Given the description of an element on the screen output the (x, y) to click on. 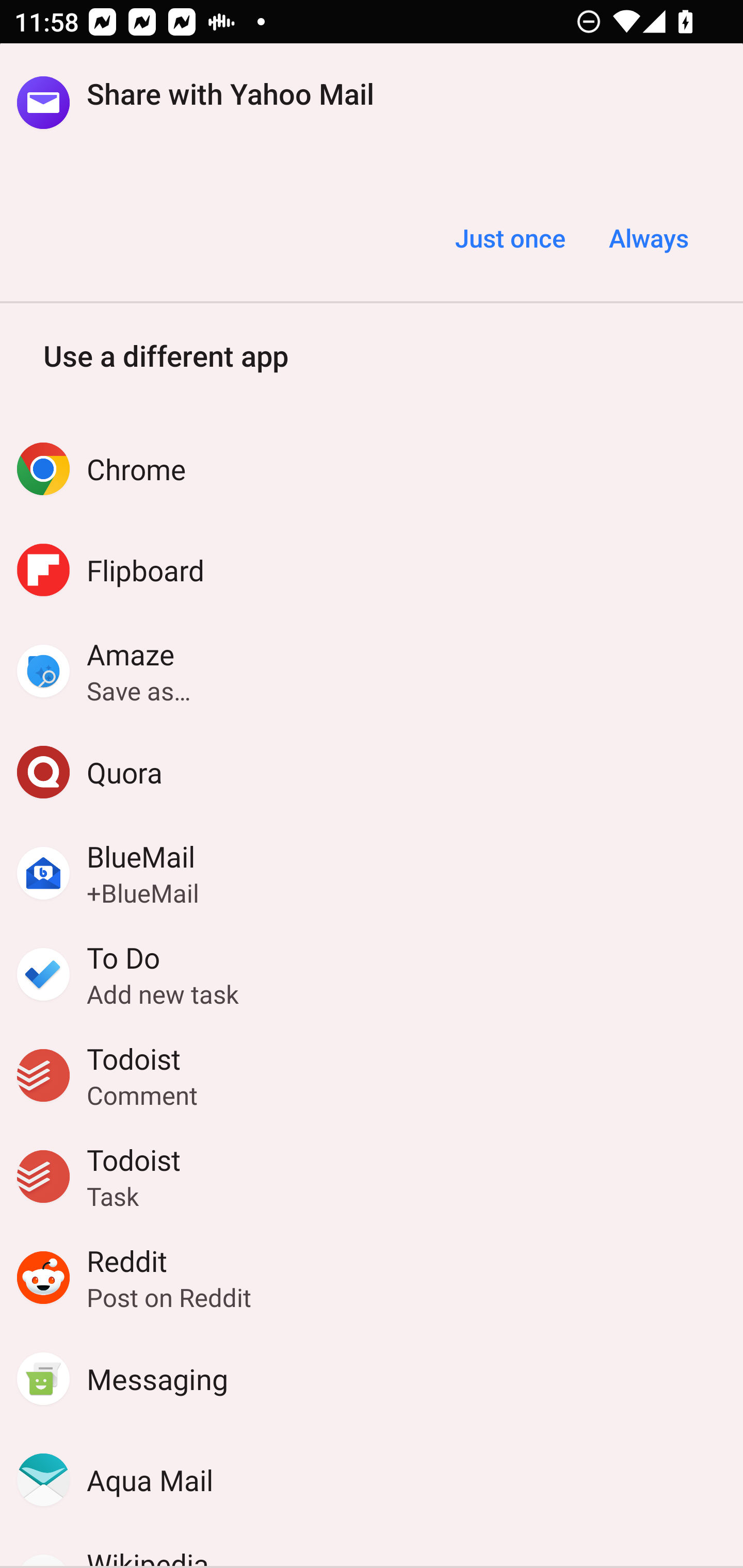
Just once (509, 237)
Always (648, 237)
Chrome (371, 468)
Flipboard (371, 569)
Amaze Save as… (371, 670)
Quora (371, 772)
BlueMail +BlueMail (371, 873)
To Do Add new task (371, 974)
Todoist Comment (371, 1075)
Todoist Task (371, 1176)
Reddit Post on Reddit (371, 1277)
Messaging (371, 1379)
Aqua Mail (371, 1480)
